Given the description of an element on the screen output the (x, y) to click on. 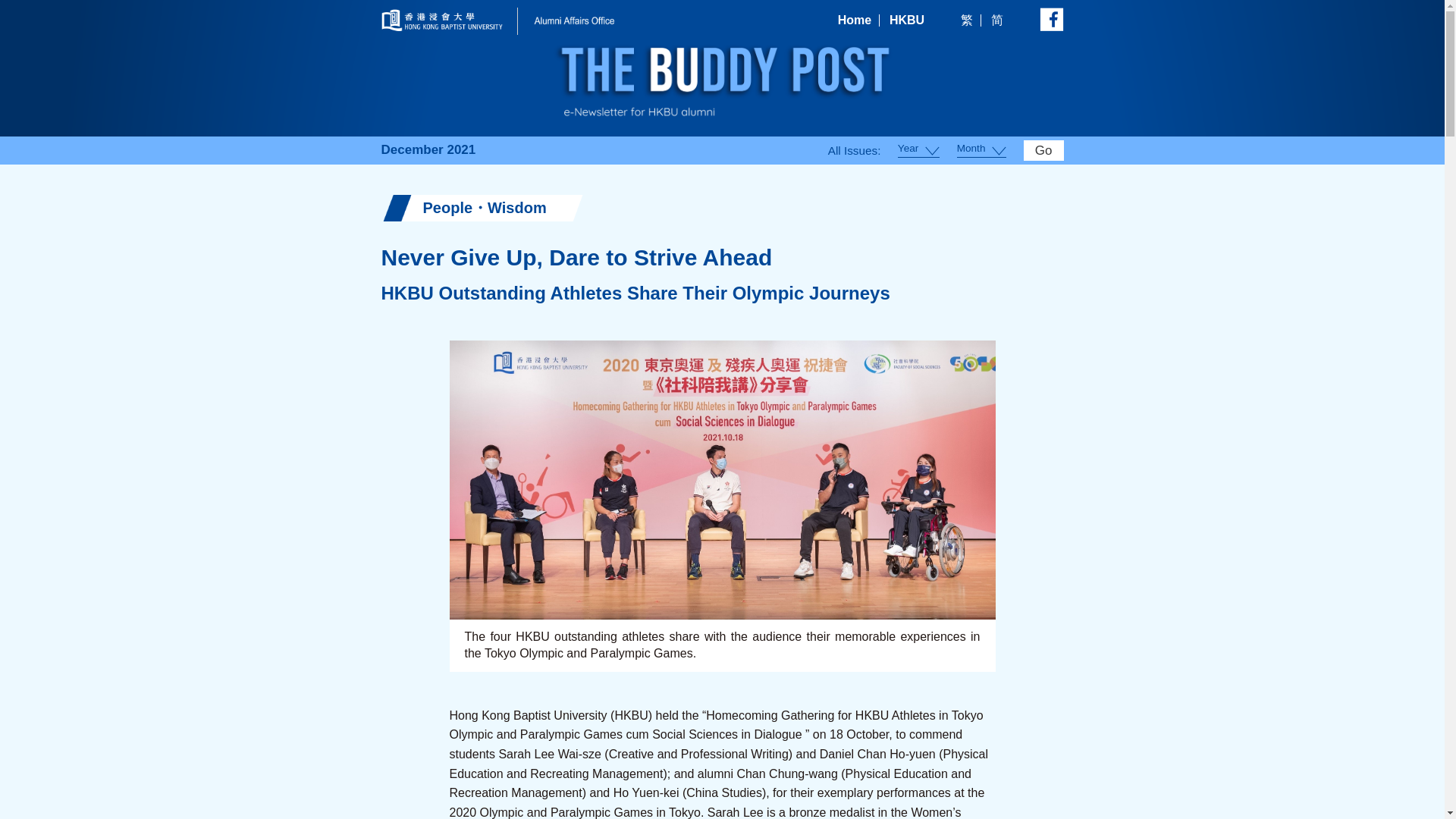
December 2021 (428, 150)
Home (854, 19)
HKBU (906, 19)
